Given the description of an element on the screen output the (x, y) to click on. 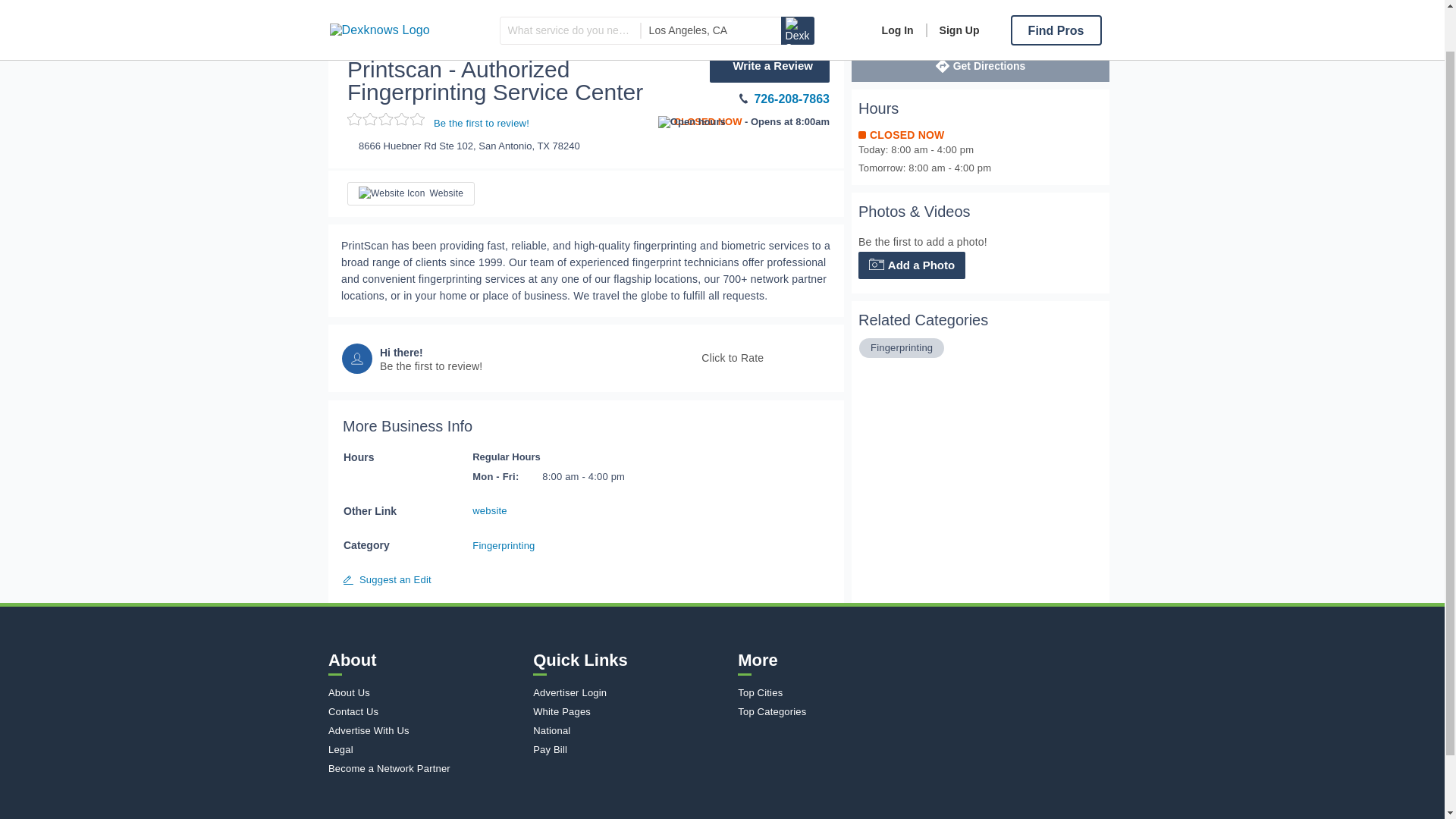
Website (410, 193)
Legal (427, 749)
Top Categories (836, 711)
Fingerprinting (901, 347)
About Us (427, 692)
Add a Photo (912, 265)
Advertise With Us (427, 730)
National (631, 730)
Fingerprinting (472, 26)
